Given the description of an element on the screen output the (x, y) to click on. 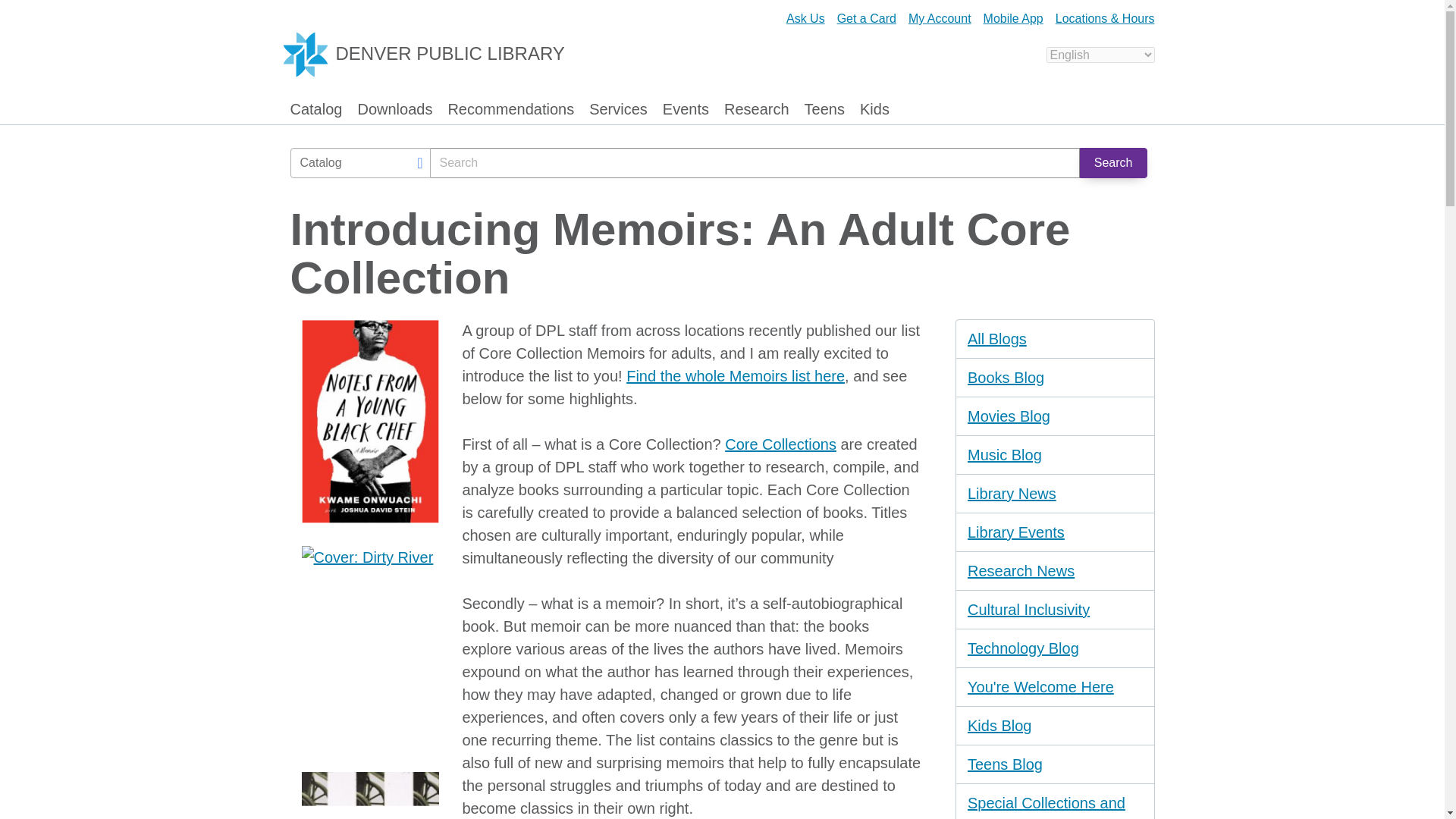
Catalog (315, 111)
Home (432, 54)
Find the whole Memoirs list here (735, 375)
Get a Card (866, 18)
Services (618, 111)
Teens (824, 111)
DENVER PUBLIC LIBRARY (432, 54)
Ask Us (805, 18)
Search (1113, 163)
My Account (939, 18)
Kids (874, 111)
Events (685, 111)
Mobile App (1013, 18)
Recommendations (509, 111)
